Given the description of an element on the screen output the (x, y) to click on. 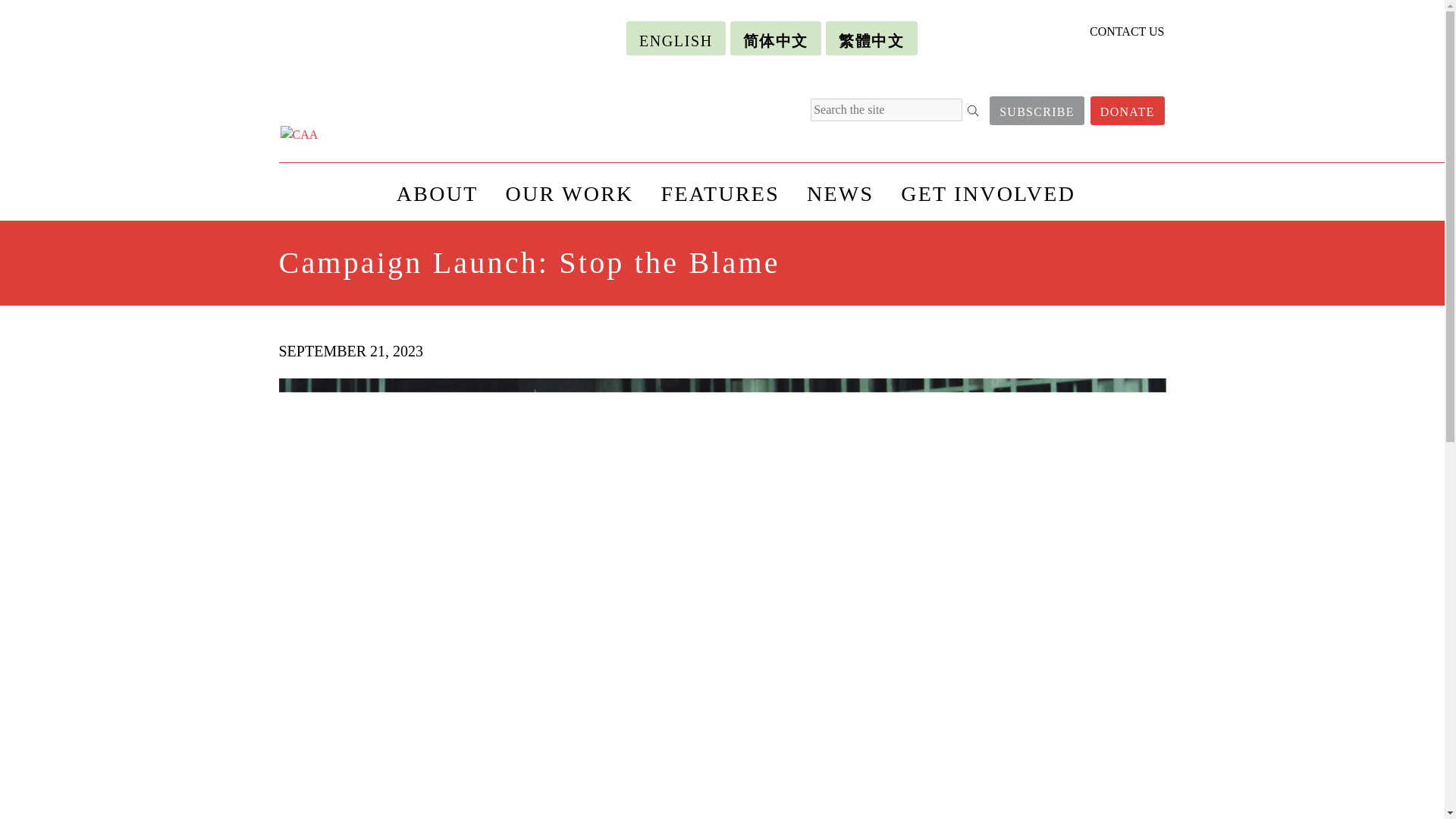
SUBSCRIBE (1037, 110)
ENGLISH (675, 38)
OUR WORK (569, 191)
FEATURES (720, 191)
CONTACT US (1126, 31)
ABOUT (437, 191)
CAA (387, 134)
DONATE (1127, 110)
